Given the description of an element on the screen output the (x, y) to click on. 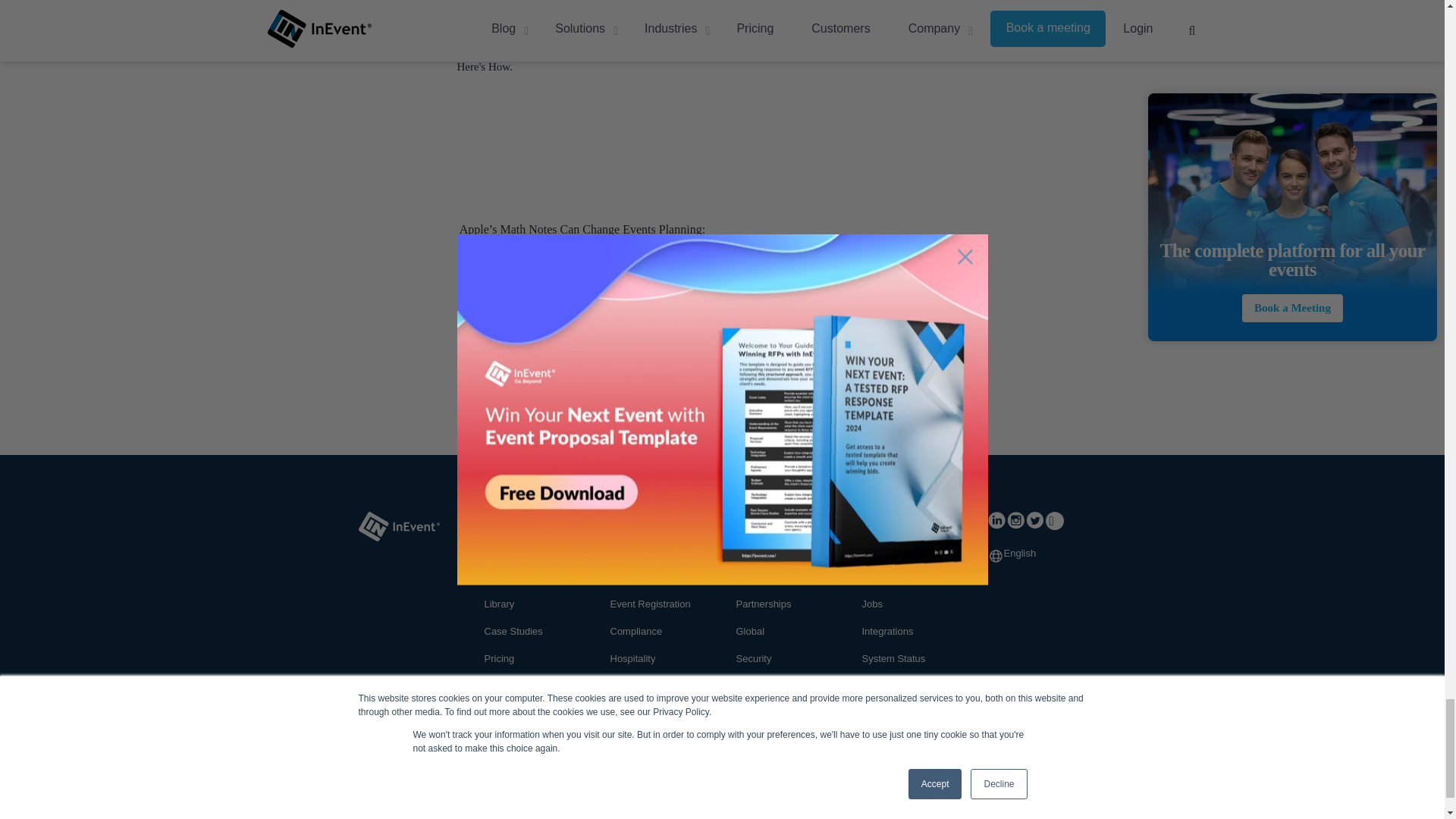
9 Strategies for Cost-Effective Event Management in 2024 (861, 139)
9 Strategies for Cost-Effective Event Management in 2024 (861, 269)
